Given the description of an element on the screen output the (x, y) to click on. 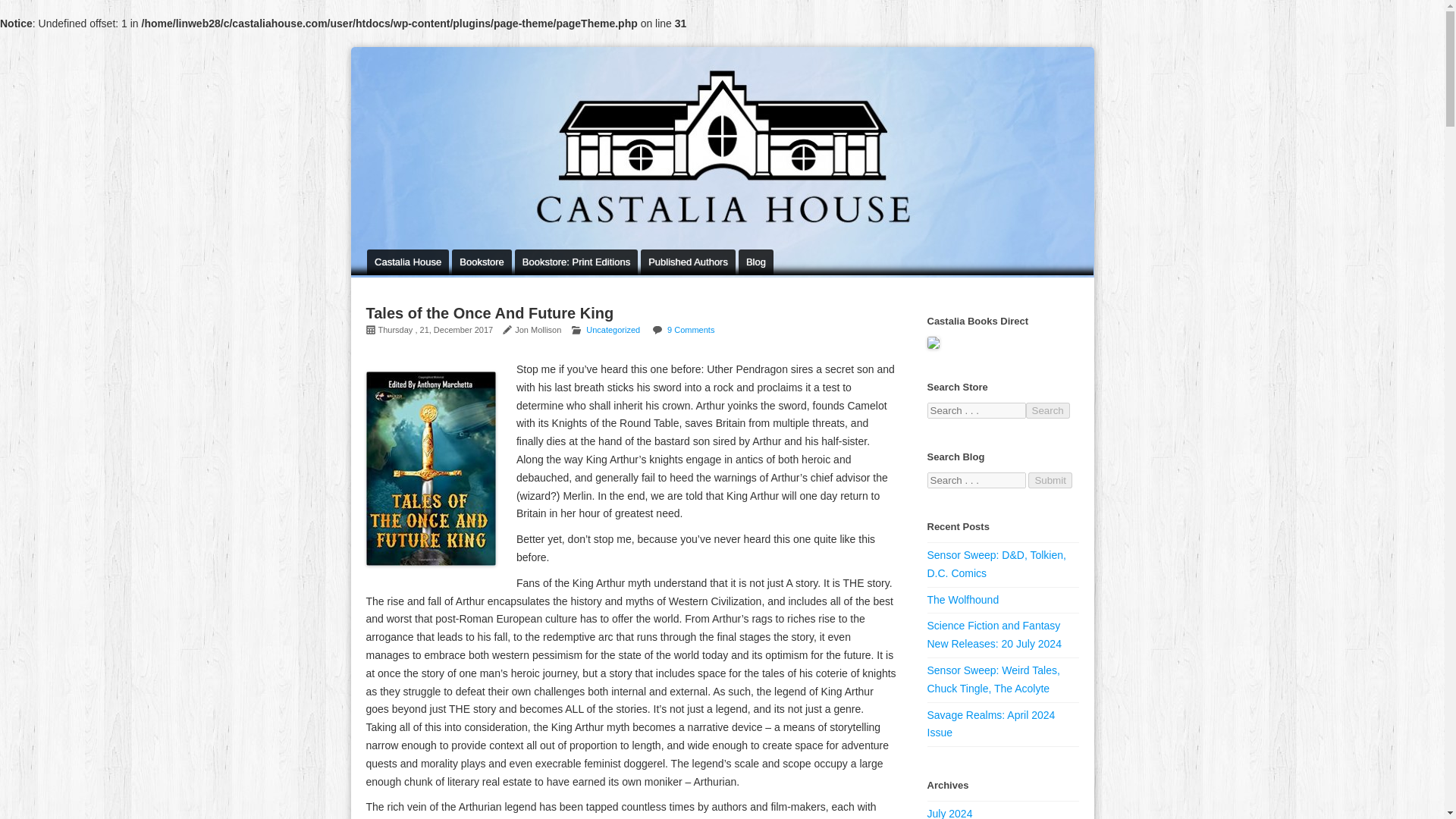
9 Comments (690, 329)
Search (1046, 410)
Published Authors (687, 262)
Castalia House (407, 262)
Blog (755, 262)
Bookstore: Print Editions (576, 262)
Submit (1049, 480)
Search (1046, 410)
Bookstore (481, 262)
Uncategorized (612, 329)
